Given the description of an element on the screen output the (x, y) to click on. 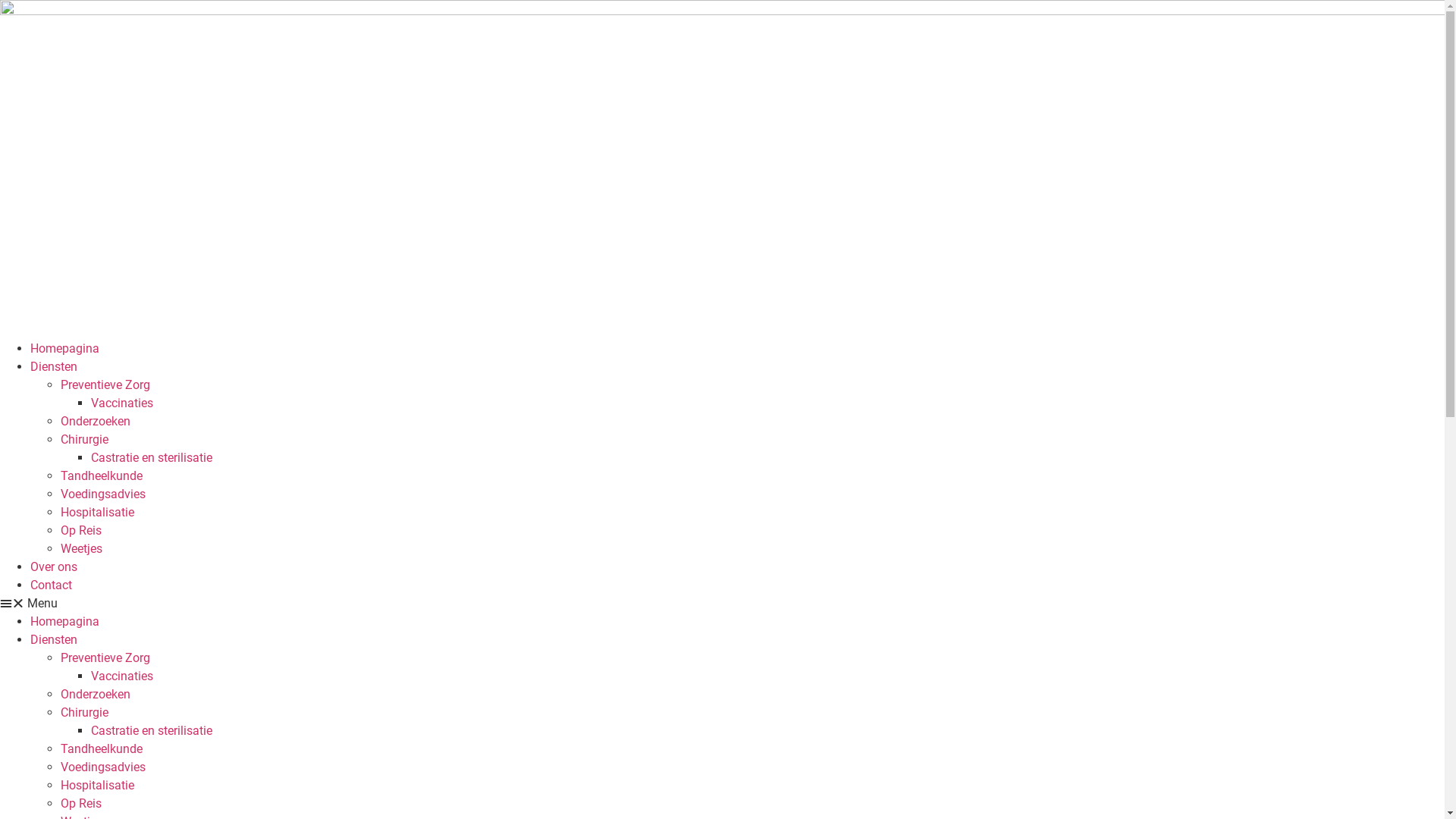
Chirurgie Element type: text (84, 712)
Weetjes Element type: text (81, 548)
Voedingsadvies Element type: text (102, 493)
Preventieve Zorg Element type: text (105, 657)
Vaccinaties Element type: text (122, 675)
Diensten Element type: text (53, 366)
Homepagina Element type: text (64, 348)
Chirurgie Element type: text (84, 439)
Castratie en sterilisatie Element type: text (151, 730)
Hospitalisatie Element type: text (97, 512)
Onderzoeken Element type: text (95, 694)
Op Reis Element type: text (80, 530)
Voedingsadvies Element type: text (102, 766)
Tandheelkunde Element type: text (101, 748)
Tandheelkunde Element type: text (101, 475)
Over ons Element type: text (53, 566)
Onderzoeken Element type: text (95, 421)
Vaccinaties Element type: text (122, 402)
Op Reis Element type: text (80, 803)
Preventieve Zorg Element type: text (105, 384)
Diensten Element type: text (53, 639)
Castratie en sterilisatie Element type: text (151, 457)
Hospitalisatie Element type: text (97, 785)
Contact Element type: text (51, 584)
Homepagina Element type: text (64, 621)
